Given the description of an element on the screen output the (x, y) to click on. 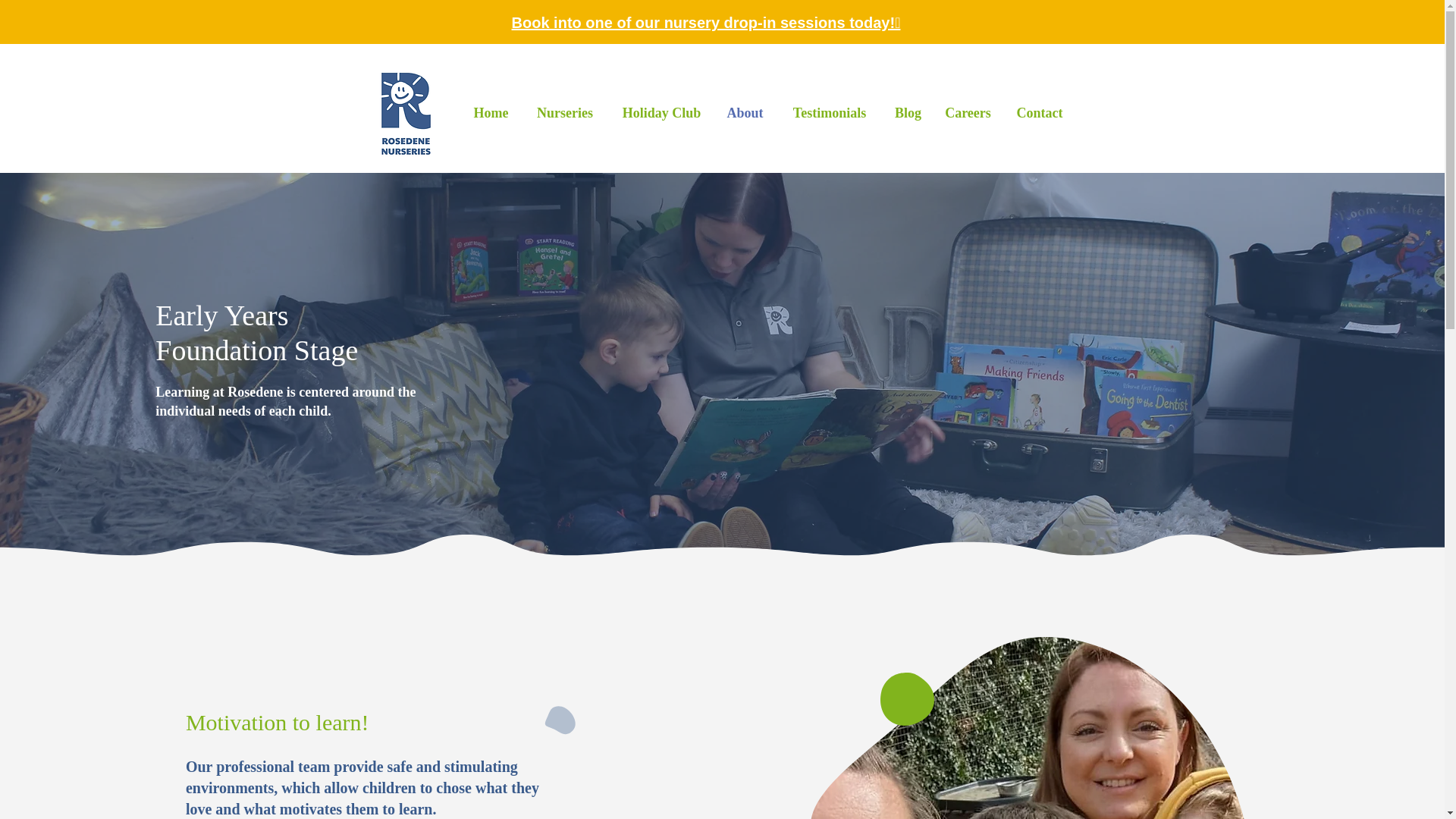
Home (491, 112)
Careers (968, 112)
Testimonials (828, 112)
Nurseries (564, 112)
Holiday Club (661, 112)
Early Years Foundation Stage (256, 332)
Northallerton Coronation 3.jpg (1033, 728)
About (744, 112)
Contact (1039, 112)
Blog (908, 112)
